Given the description of an element on the screen output the (x, y) to click on. 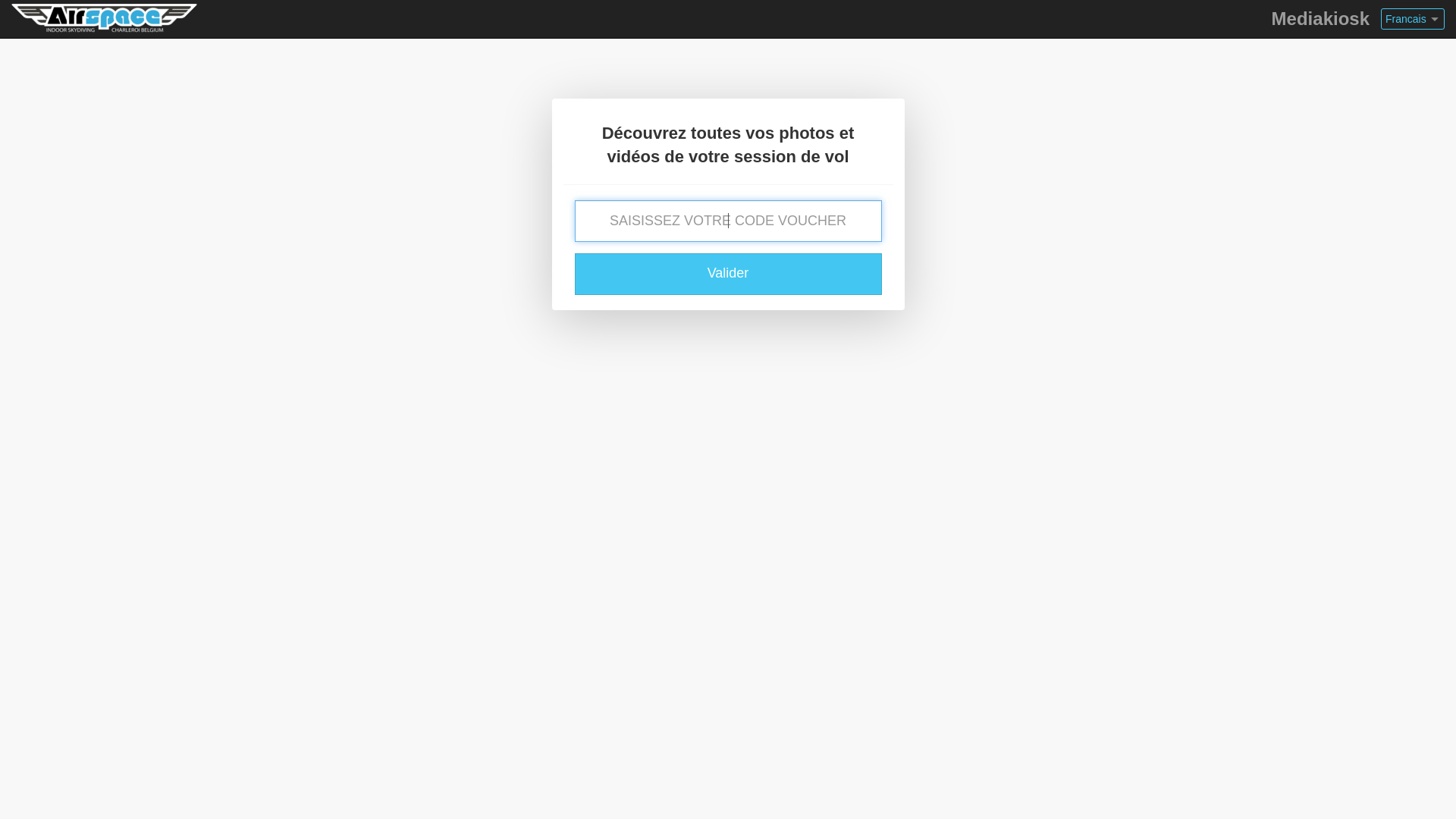
Valider Element type: text (727, 273)
Mediakiosk Element type: text (1320, 18)
